Given the description of an element on the screen output the (x, y) to click on. 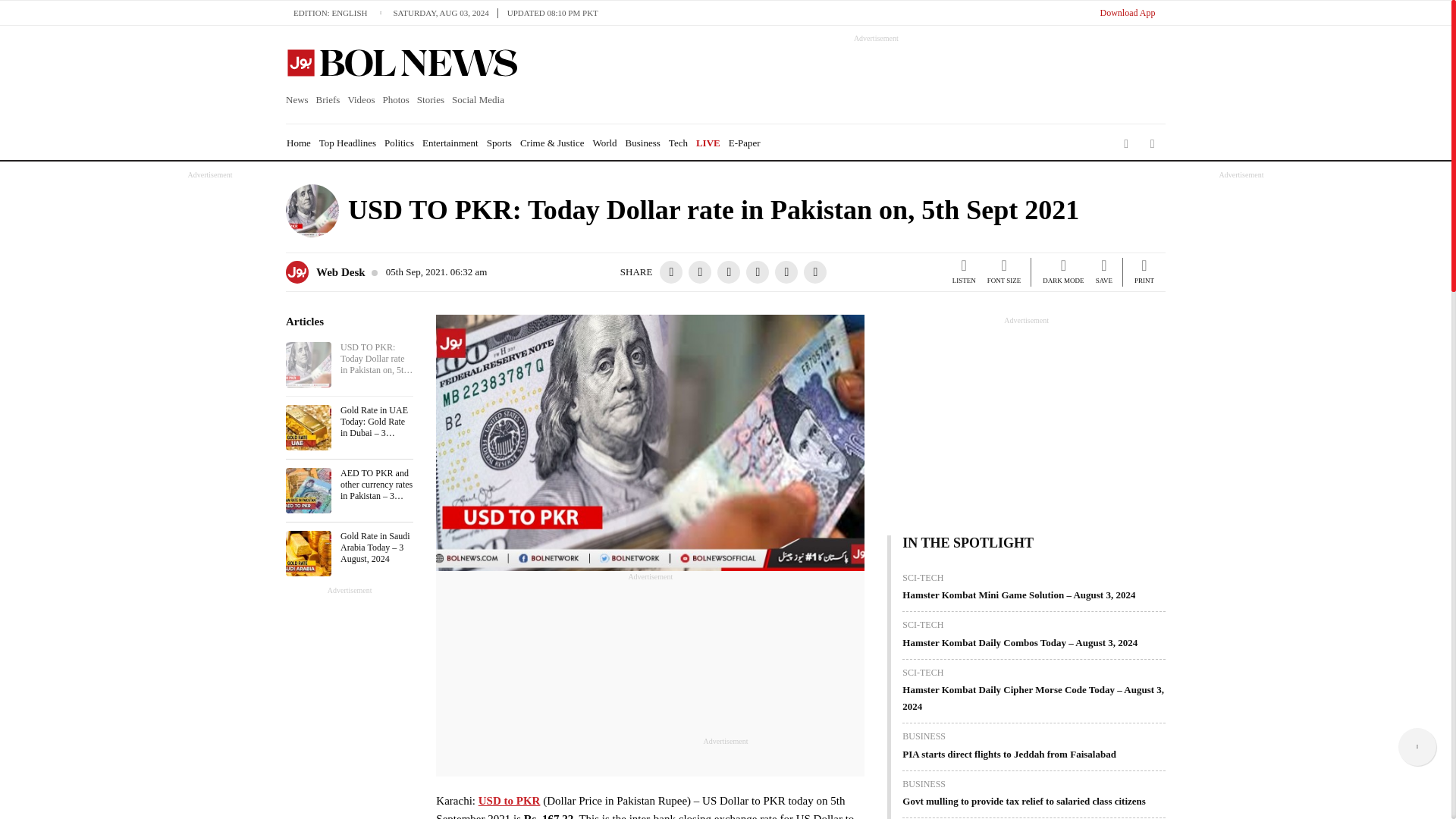
SATURDAY, AUG 03, 2024 (445, 12)
Stories (430, 99)
Top Headlines (346, 143)
Briefs (328, 99)
News (299, 99)
Business (643, 143)
Download App (1127, 12)
Entertainment (450, 143)
Videos (360, 99)
Photos (395, 99)
Social Media (478, 99)
UPDATED 08:10 PM PKT (552, 12)
